Given the description of an element on the screen output the (x, y) to click on. 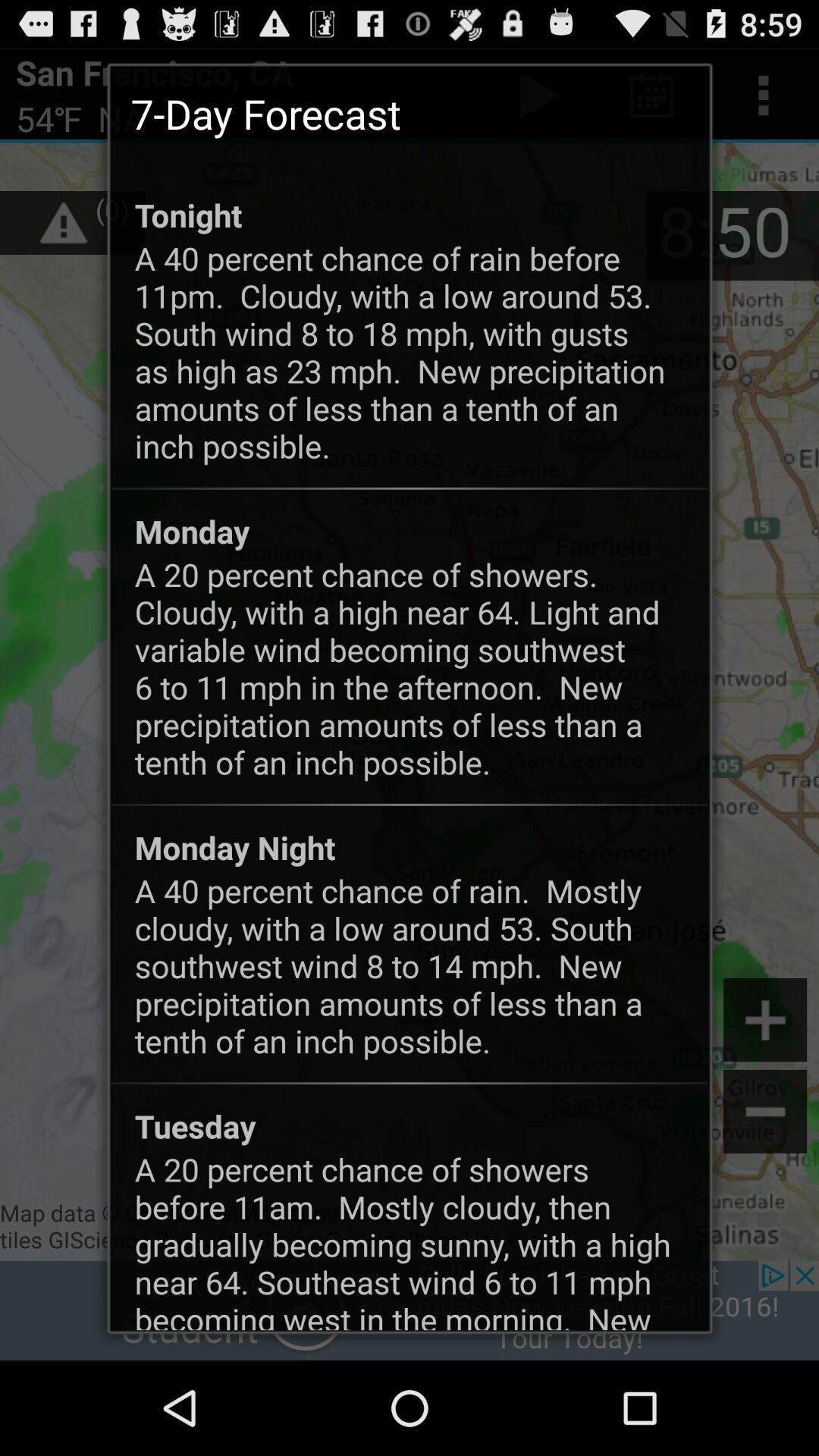
scroll to tonight (188, 214)
